Given the description of an element on the screen output the (x, y) to click on. 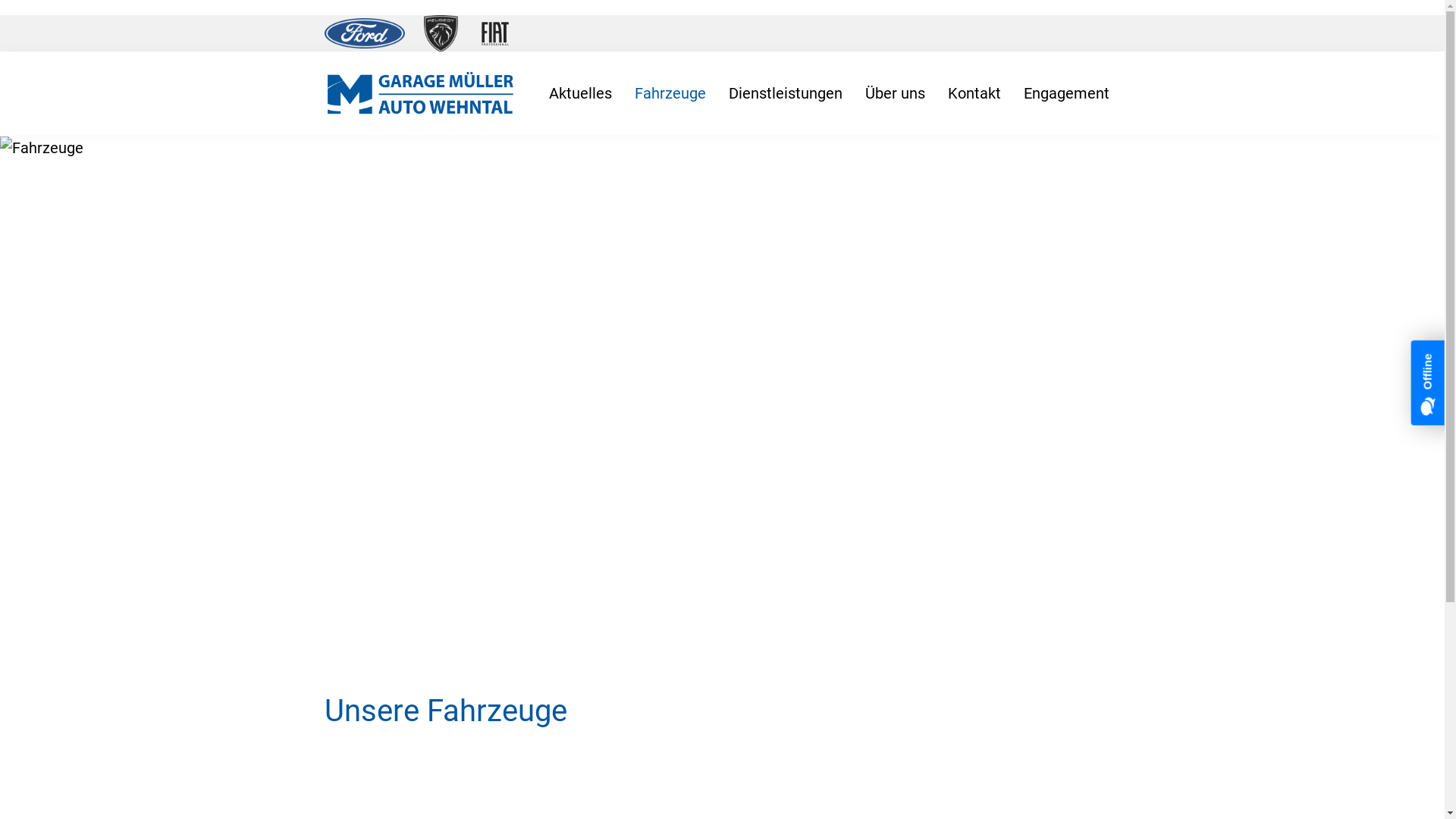
Fahrzeuge Element type: text (670, 93)
Dienstleistungen Element type: text (785, 93)
Aktuelles Element type: text (579, 93)
Fahrzeuge Element type: hover (41, 147)
Kontakt Element type: text (973, 93)
Engagement Element type: text (1065, 93)
